Given the description of an element on the screen output the (x, y) to click on. 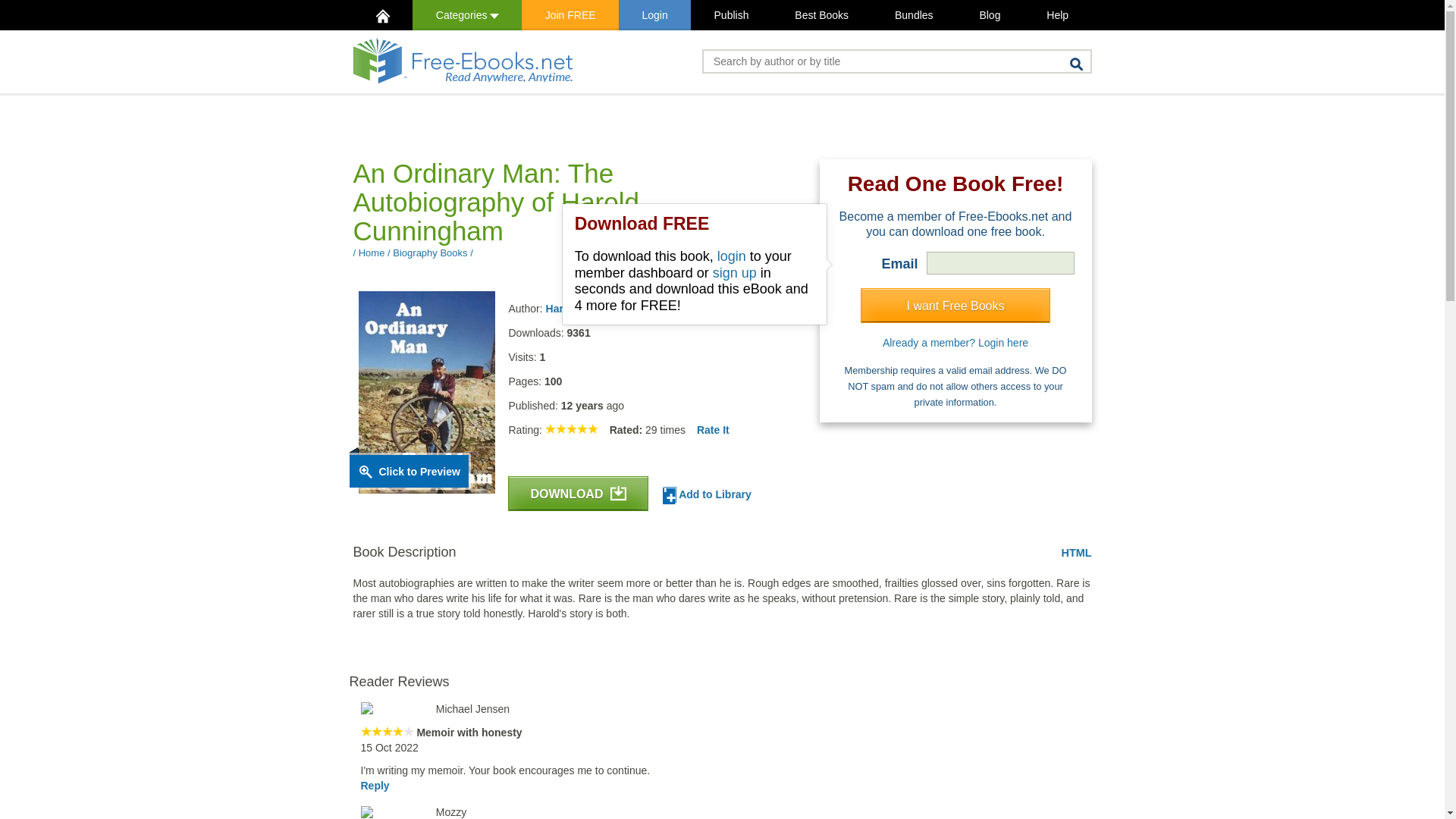
Categories (466, 15)
